Given the description of an element on the screen output the (x, y) to click on. 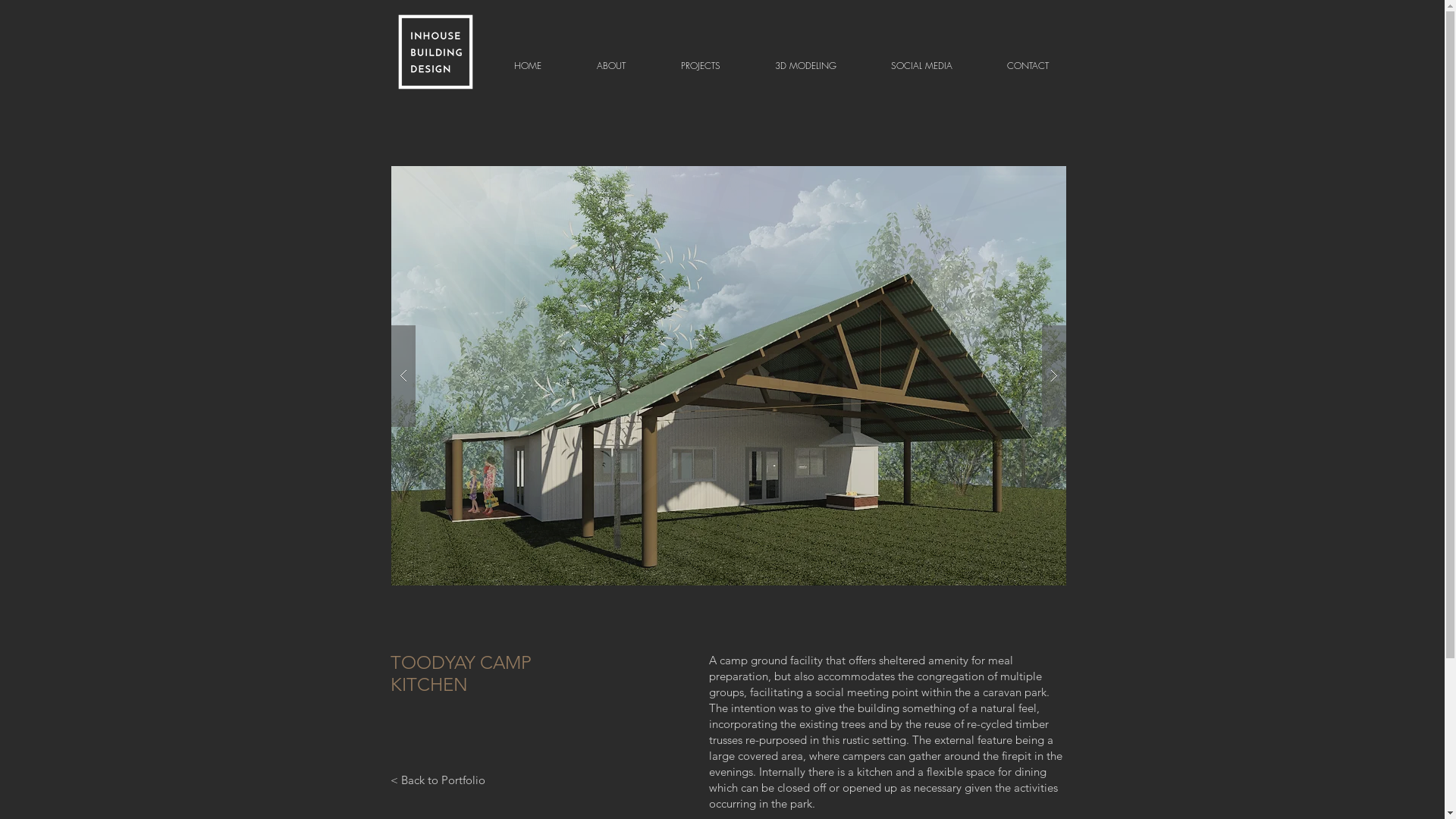
ABOUT Element type: text (610, 65)
< Back to Portfolio Element type: text (436, 779)
PROJECTS Element type: text (700, 65)
CONTACT Element type: text (1027, 65)
3D MODELING Element type: text (805, 65)
SOCIAL MEDIA Element type: text (920, 65)
HOME Element type: text (527, 65)
